Given the description of an element on the screen output the (x, y) to click on. 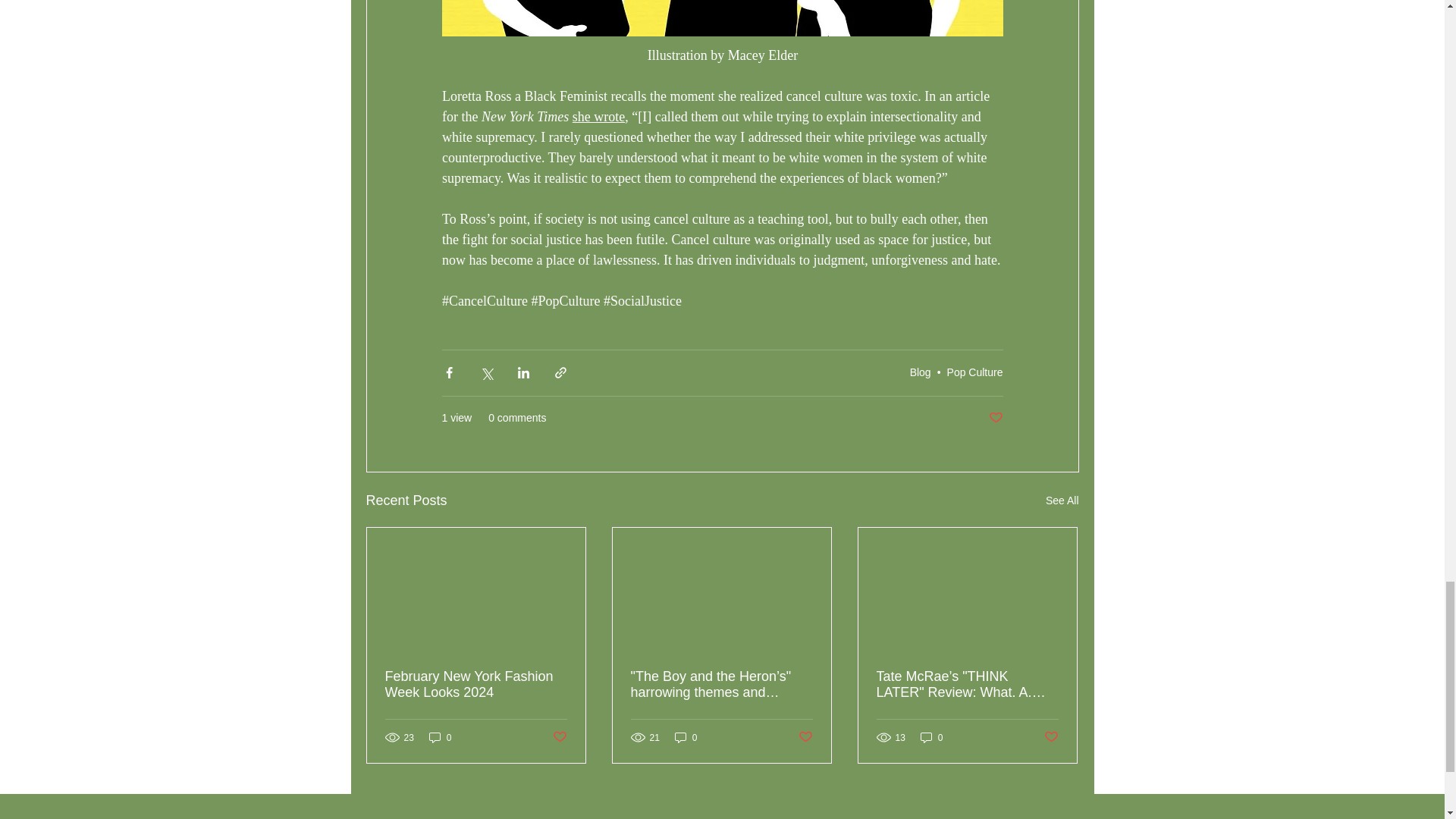
she wrote (598, 116)
Pop Culture (975, 372)
Blog (920, 372)
